Given the description of an element on the screen output the (x, y) to click on. 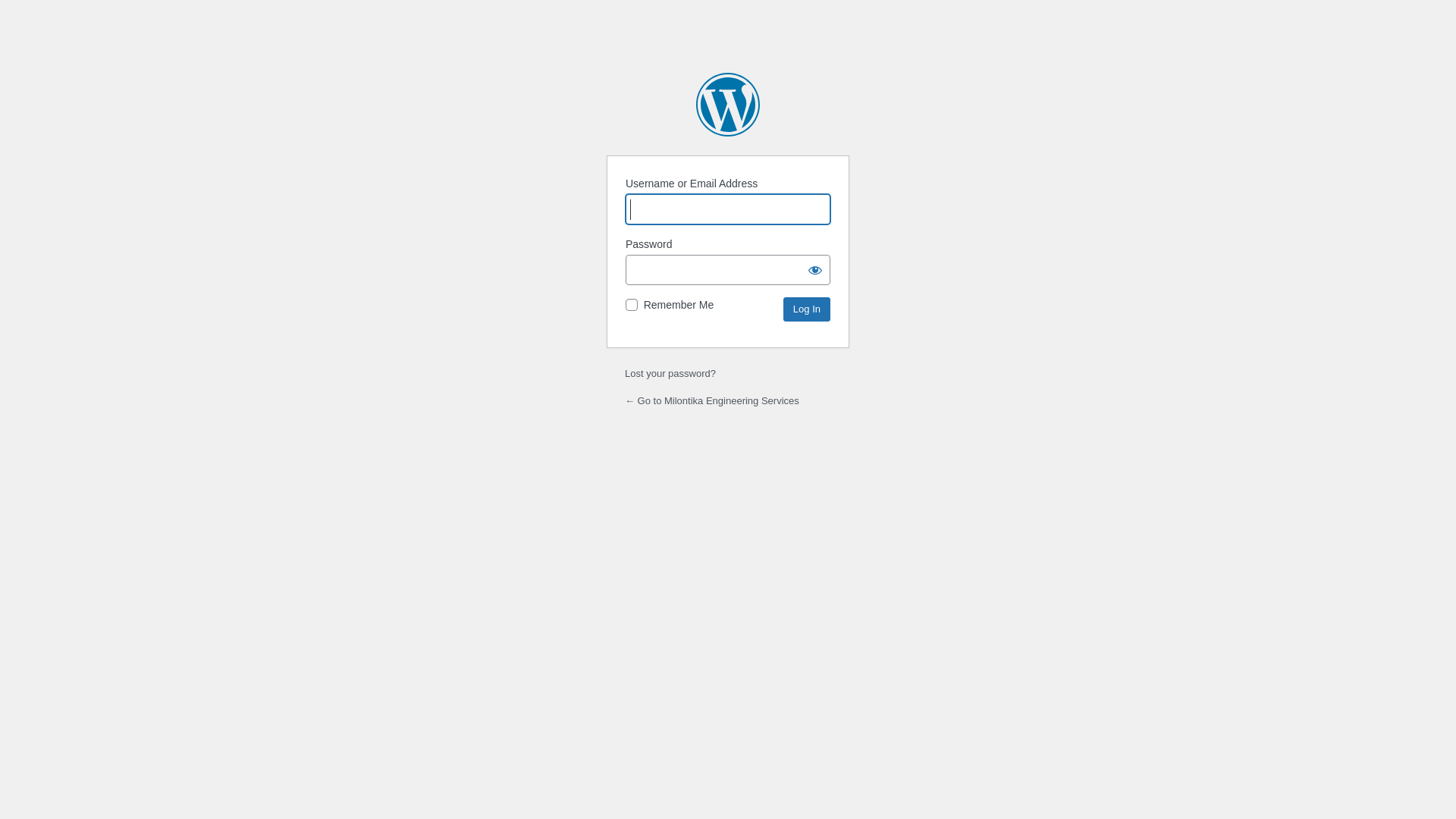
Log In Element type: text (806, 309)
Lost your password? Element type: text (669, 373)
Powered by WordPress Element type: text (727, 104)
